Given the description of an element on the screen output the (x, y) to click on. 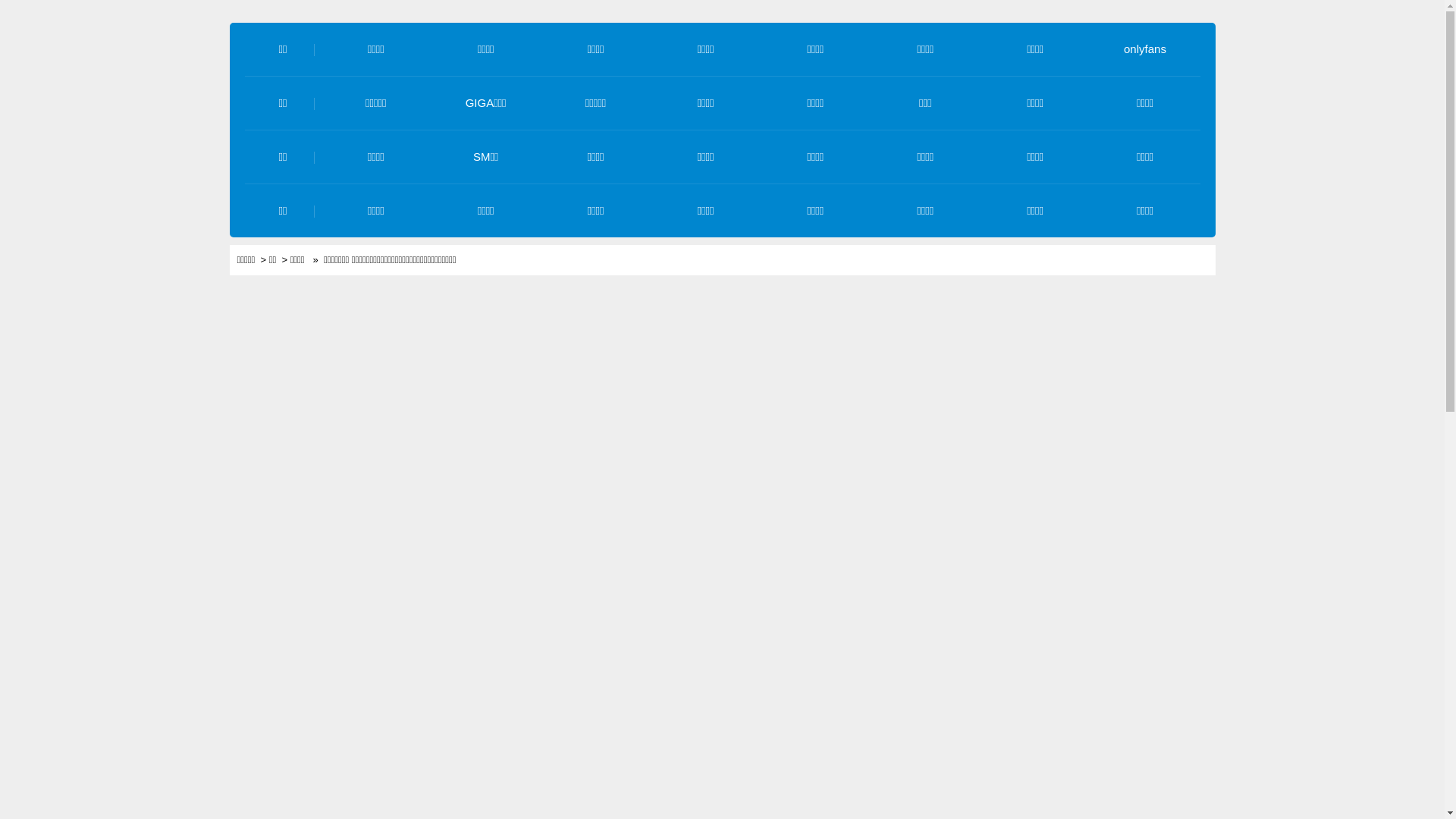
onlyfans Element type: text (1144, 48)
